Given the description of an element on the screen output the (x, y) to click on. 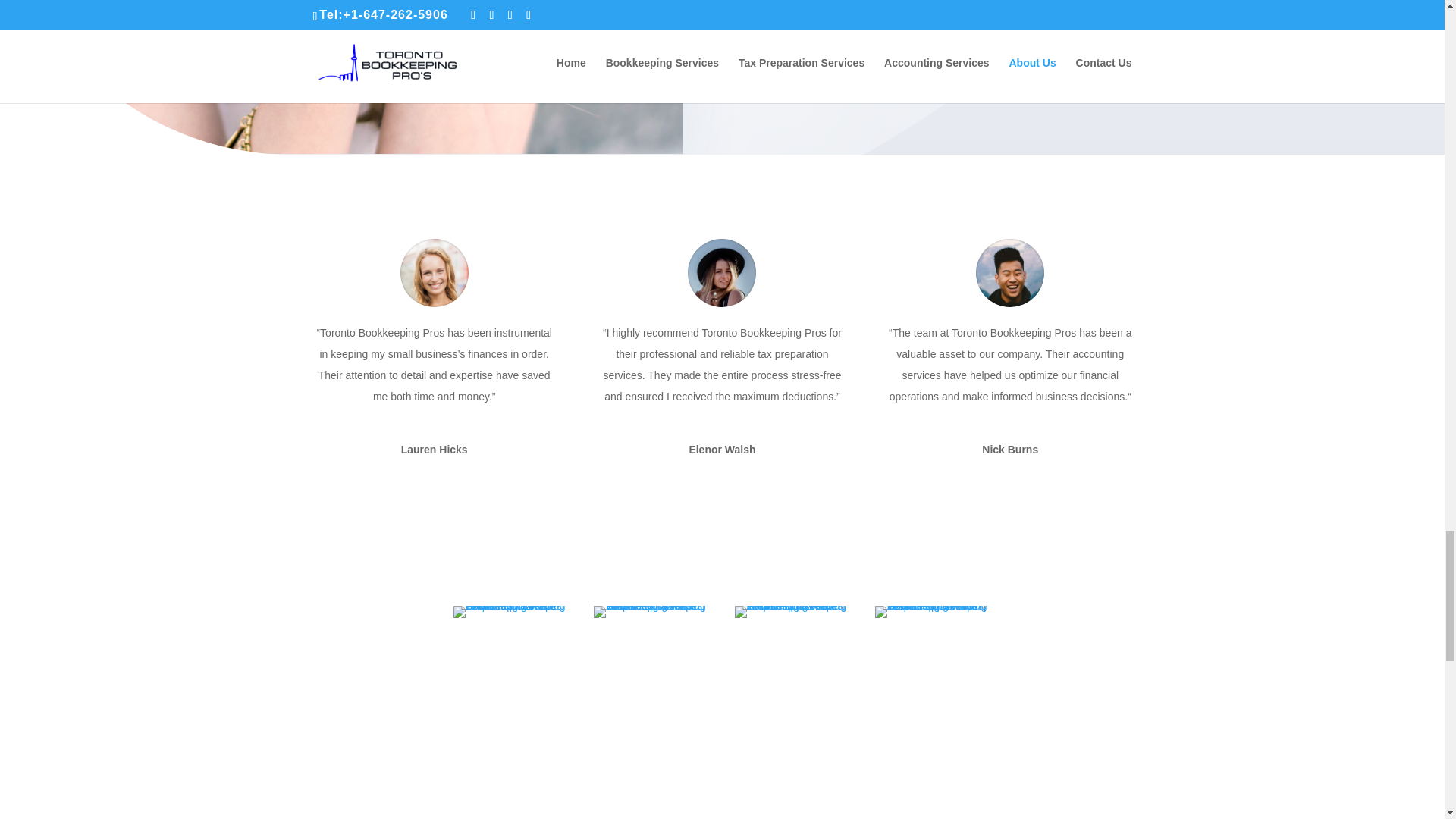
QuickBooks-Toronto-Bookkeeping-Pros (792, 612)
CPA logo-Toronto-Bookkeeping-pros-cpa-services-1 (510, 612)
Toronto Bookkeeping Pros - About Us (341, 76)
